Given the description of an element on the screen output the (x, y) to click on. 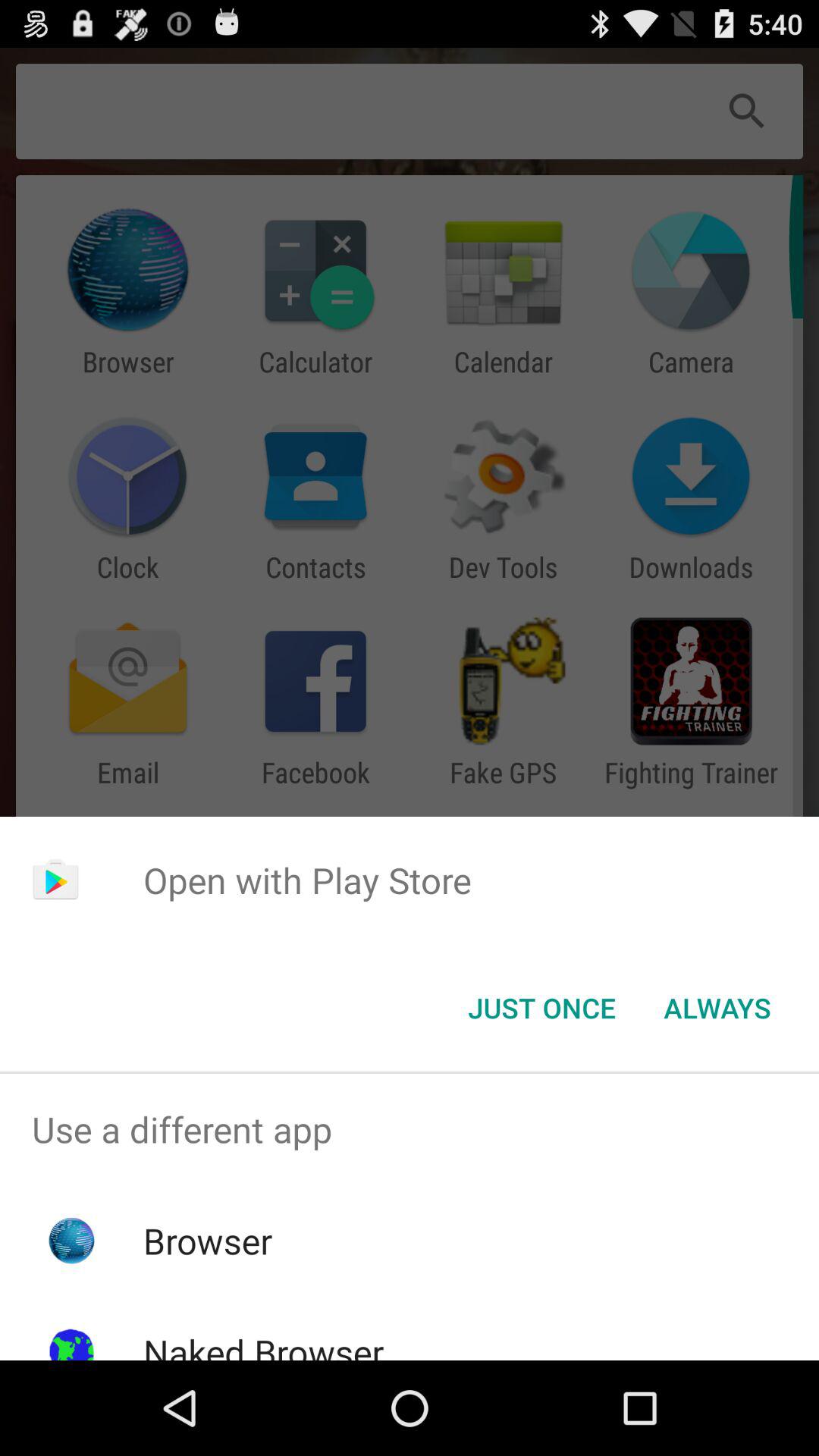
scroll to naked browser app (263, 1344)
